Given the description of an element on the screen output the (x, y) to click on. 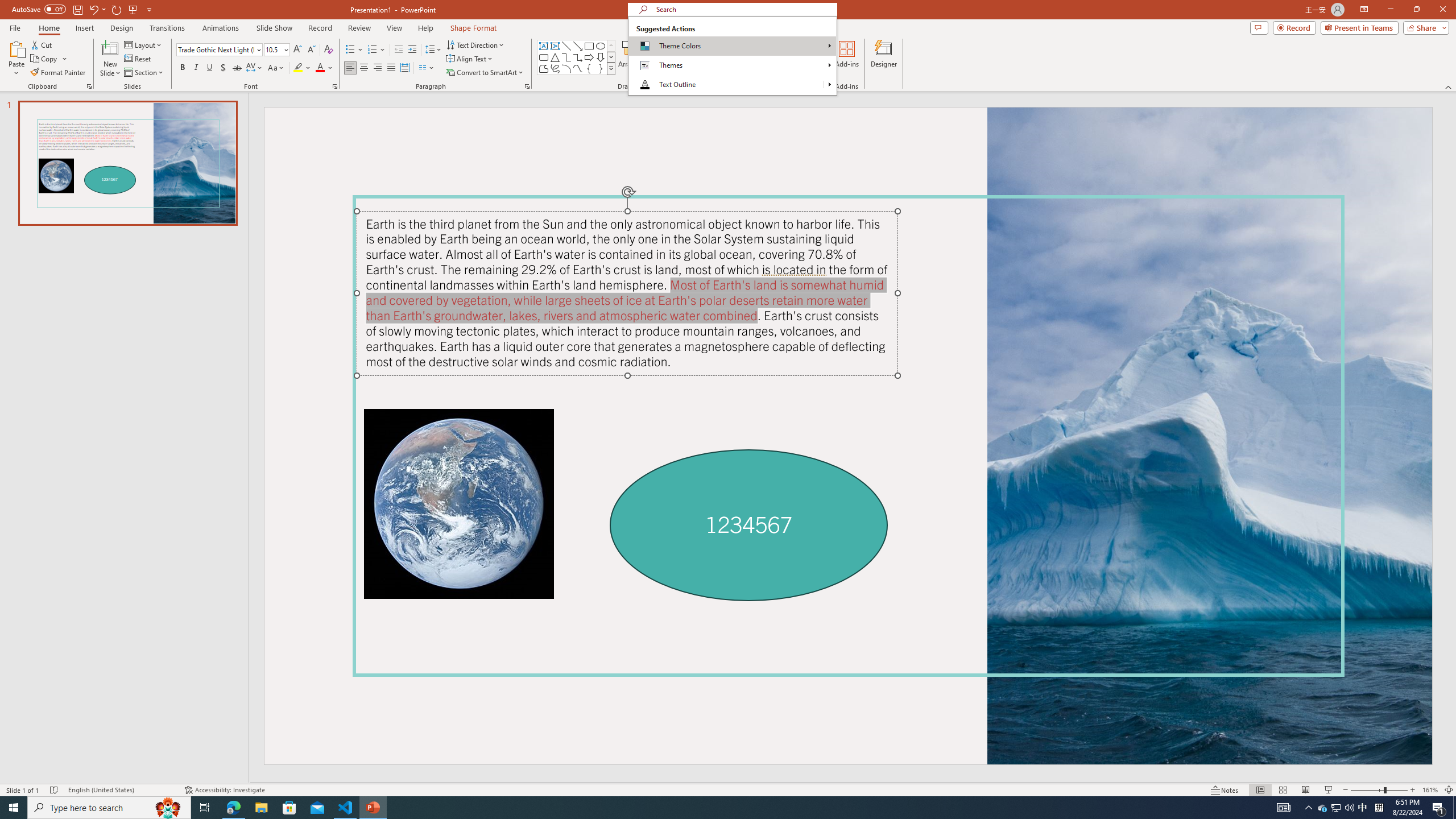
Themes (731, 65)
Shape Effects (700, 69)
Text Outline (829, 84)
